Given the description of an element on the screen output the (x, y) to click on. 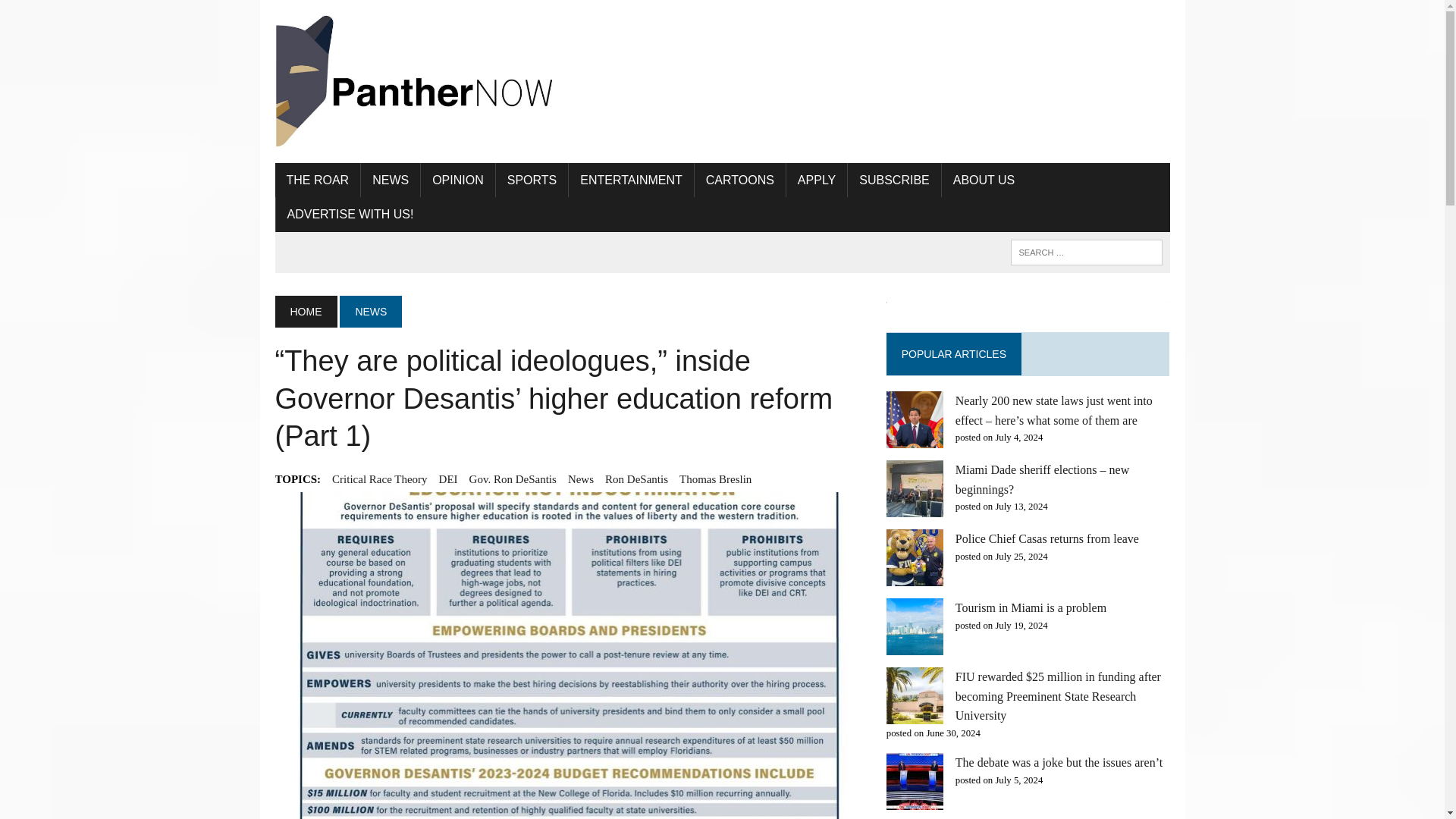
PantherNOW (416, 81)
